Given the description of an element on the screen output the (x, y) to click on. 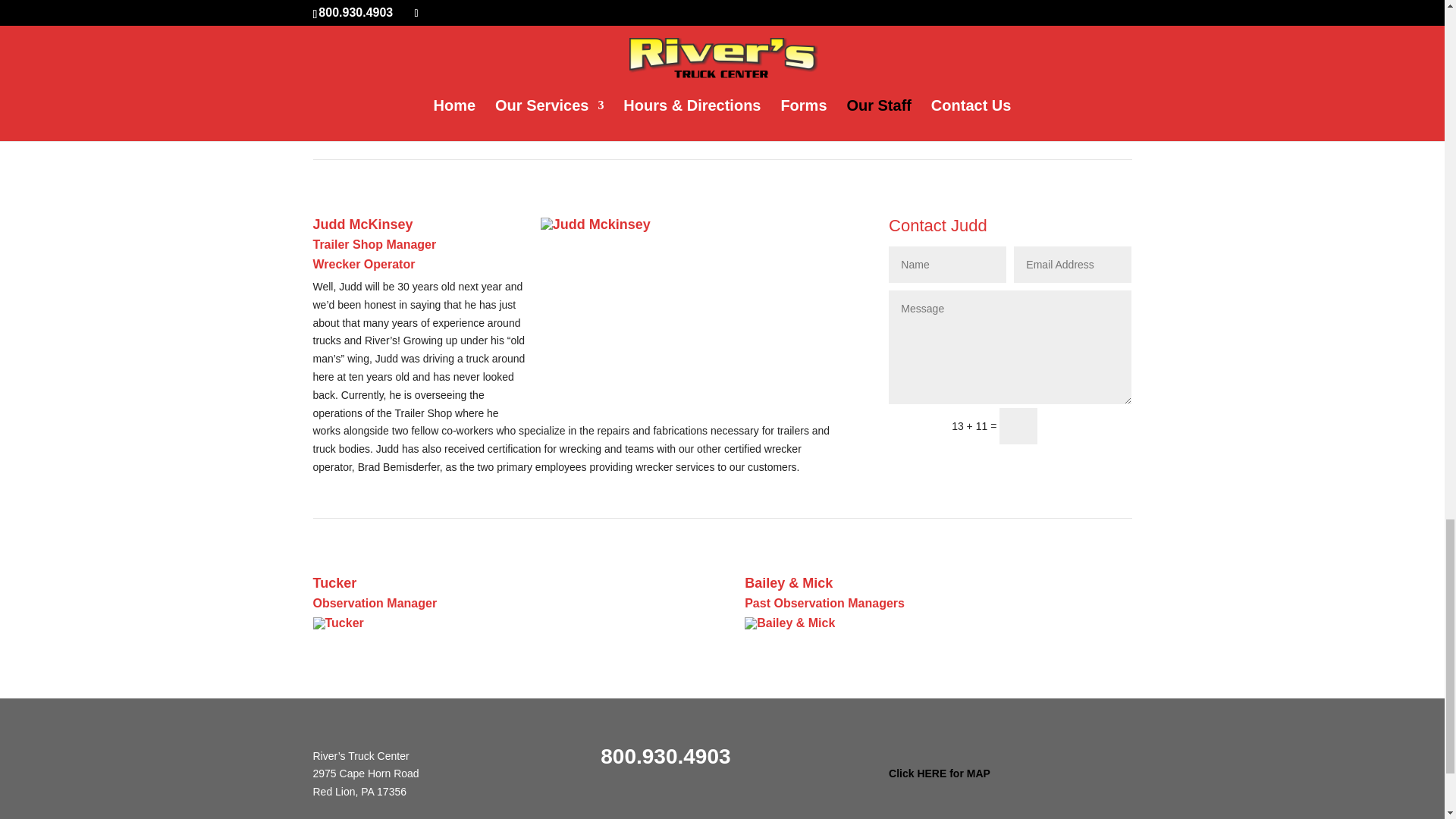
Click HERE for MAP (939, 782)
800.930.4903 (664, 759)
Submit (1091, 426)
Submit (1091, 98)
